Given the description of an element on the screen output the (x, y) to click on. 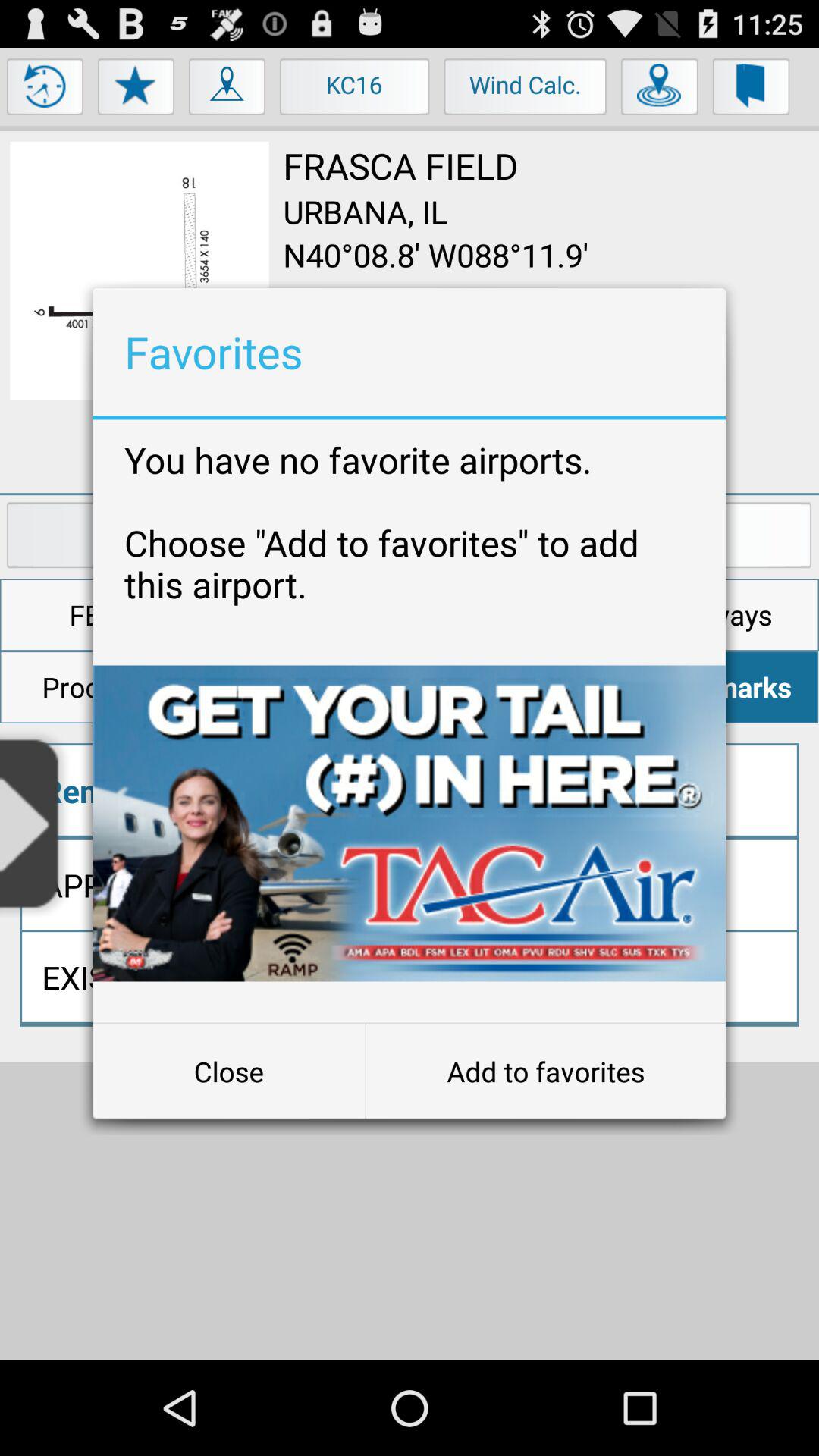
tap the button at the bottom left corner (228, 1071)
